Given the description of an element on the screen output the (x, y) to click on. 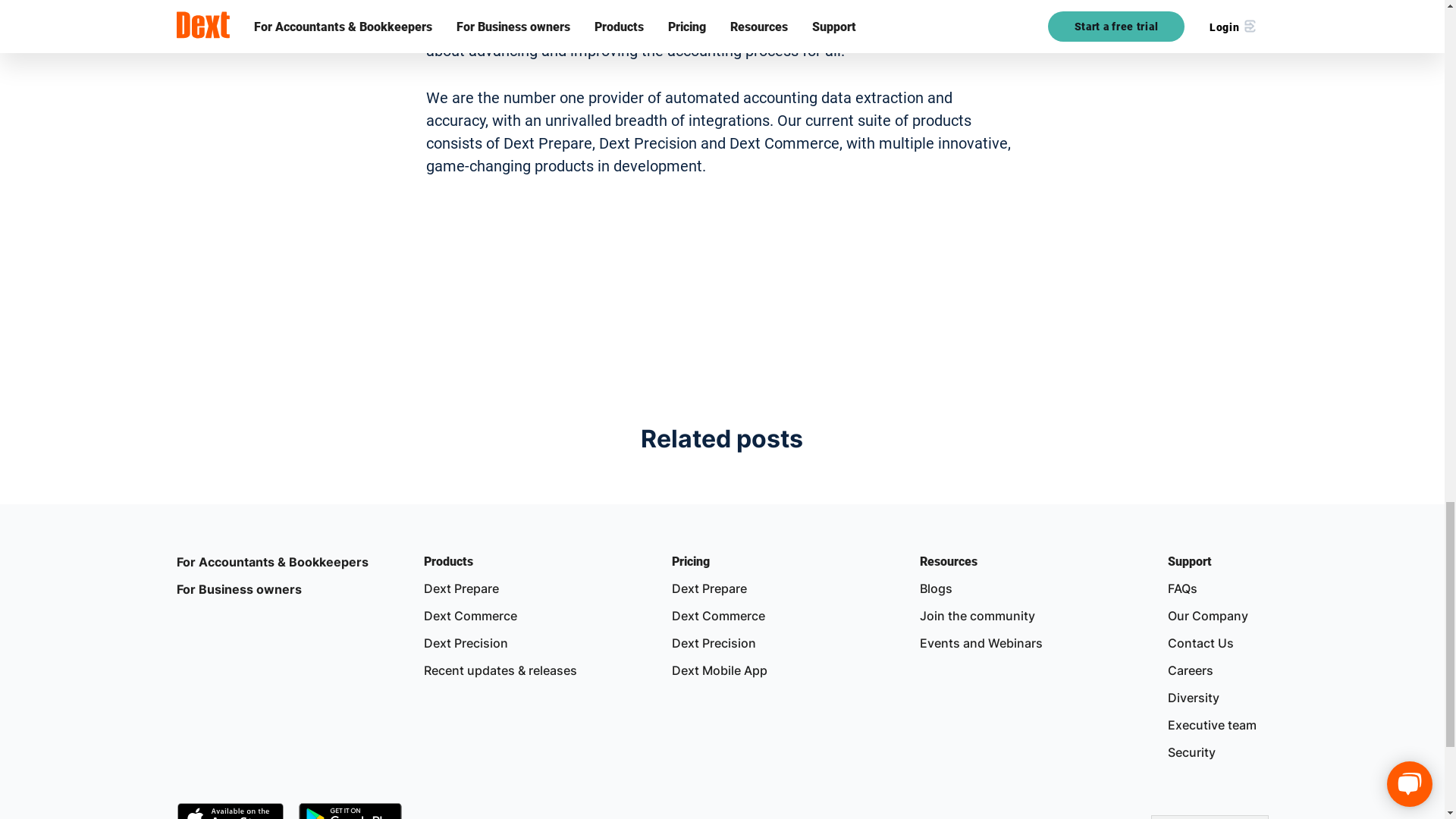
Events and Webinars (981, 642)
Dext Commerce (718, 615)
Blogs (936, 588)
Dext Precision (713, 642)
Dext Prepare (461, 588)
Dext Precision (465, 642)
Dext Commerce (718, 615)
For Business owners (238, 589)
Dext Mobile App (719, 670)
Dext Commerce (469, 615)
For Business owners (238, 589)
Dext Mobile App (719, 670)
Dext Prepare (708, 588)
Dext Precision (713, 642)
Dext Prepare (461, 588)
